Given the description of an element on the screen output the (x, y) to click on. 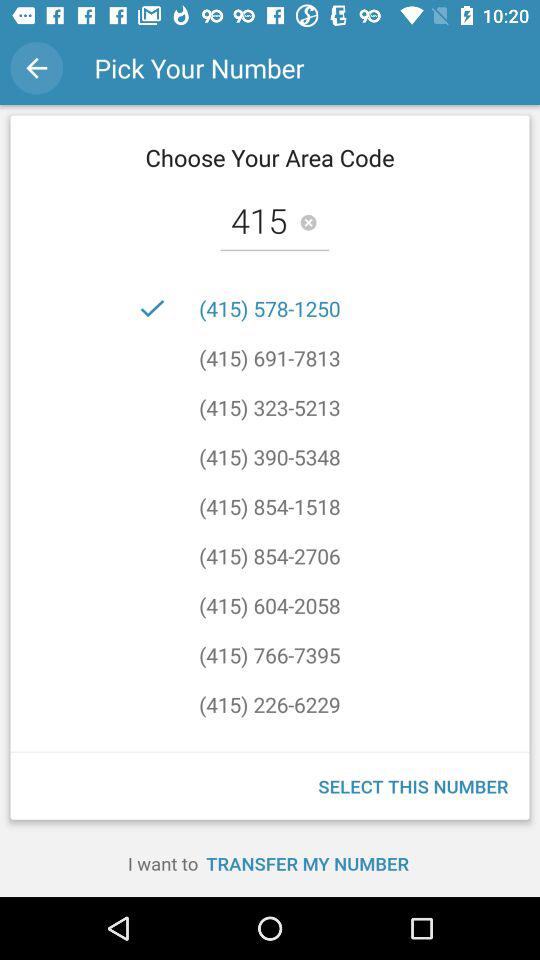
open the item above the (415) 766-7395 (269, 605)
